Given the description of an element on the screen output the (x, y) to click on. 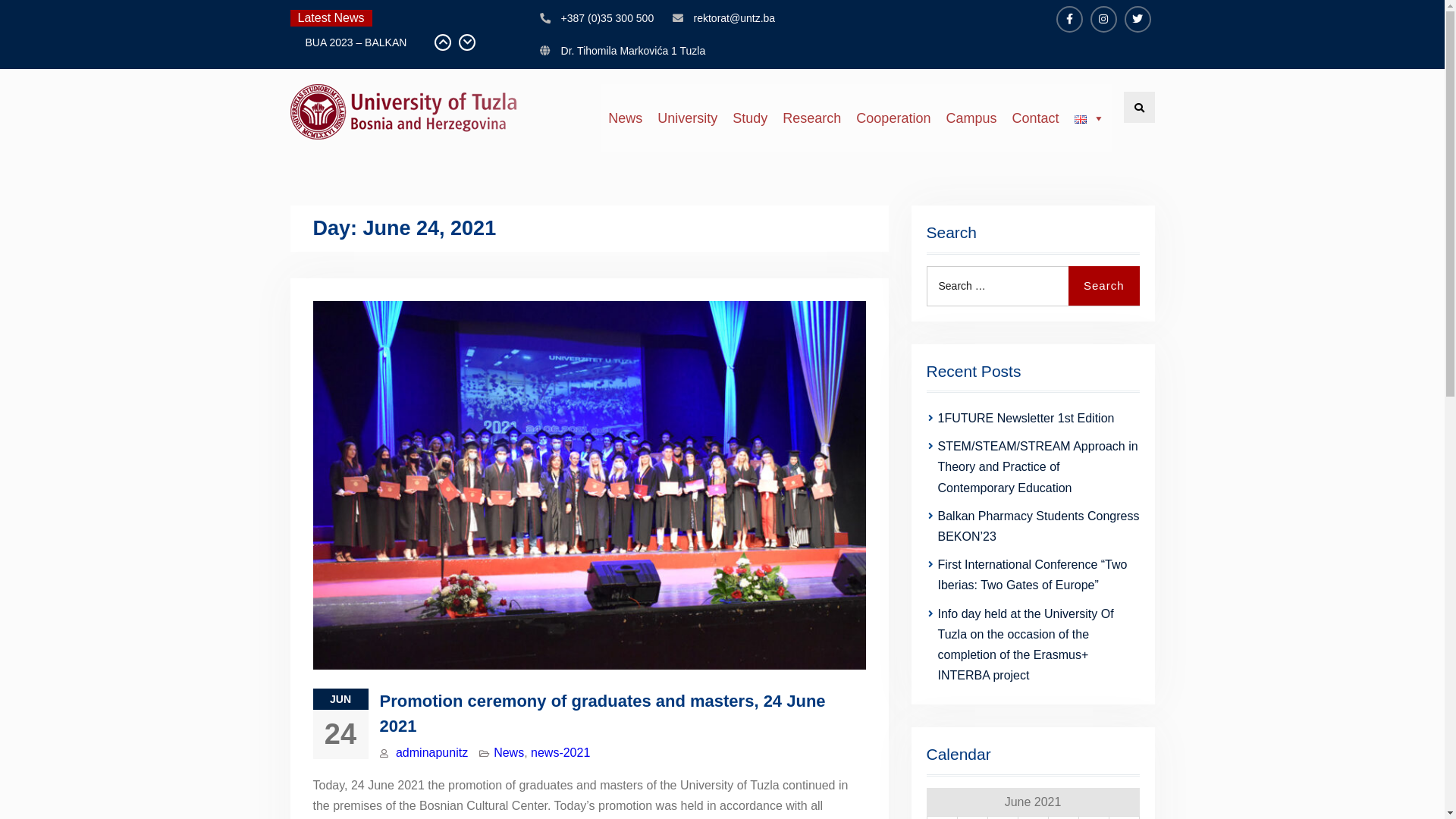
Promotion ceremony of graduates and masters, 24 June 2021 Element type: text (602, 713)
University Element type: text (686, 118)
Facebook Element type: text (1068, 19)
Search Element type: text (1138, 106)
Twitter Element type: text (1136, 19)
News Element type: text (508, 752)
News Element type: text (624, 118)
1FUTURE Newsletter 1st Edition Element type: text (1025, 417)
adminapunitz Element type: text (431, 752)
Search Element type: text (1103, 285)
news-2021 Element type: text (559, 752)
Instagram Element type: text (1103, 19)
Campus Element type: text (971, 118)
+387 (0)35 300 500 Element type: text (607, 18)
rektorat@untz.ba Element type: text (734, 18)
Research Element type: text (811, 118)
Study Element type: text (749, 118)
Cooperation Element type: text (893, 118)
Contact Element type: text (1035, 118)
